Given the description of an element on the screen output the (x, y) to click on. 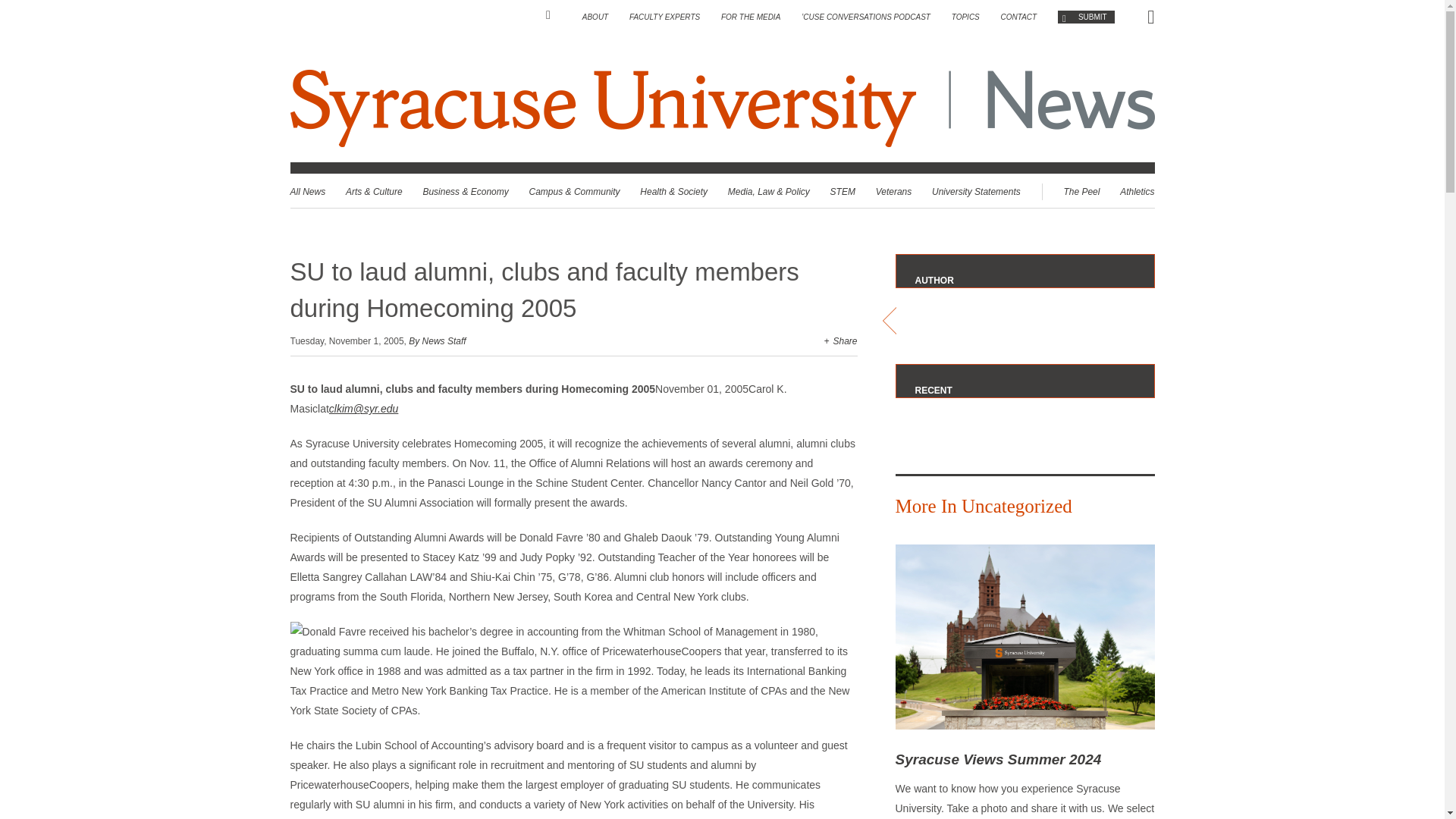
Faculty Experts (664, 17)
Syracuse University News (721, 108)
Submit (1086, 16)
All News (306, 191)
University Statements (975, 191)
Contact (1018, 17)
Syracuse University (604, 108)
CONTACT (1018, 17)
SUBMIT (1086, 16)
HOME (553, 15)
